Given the description of an element on the screen output the (x, y) to click on. 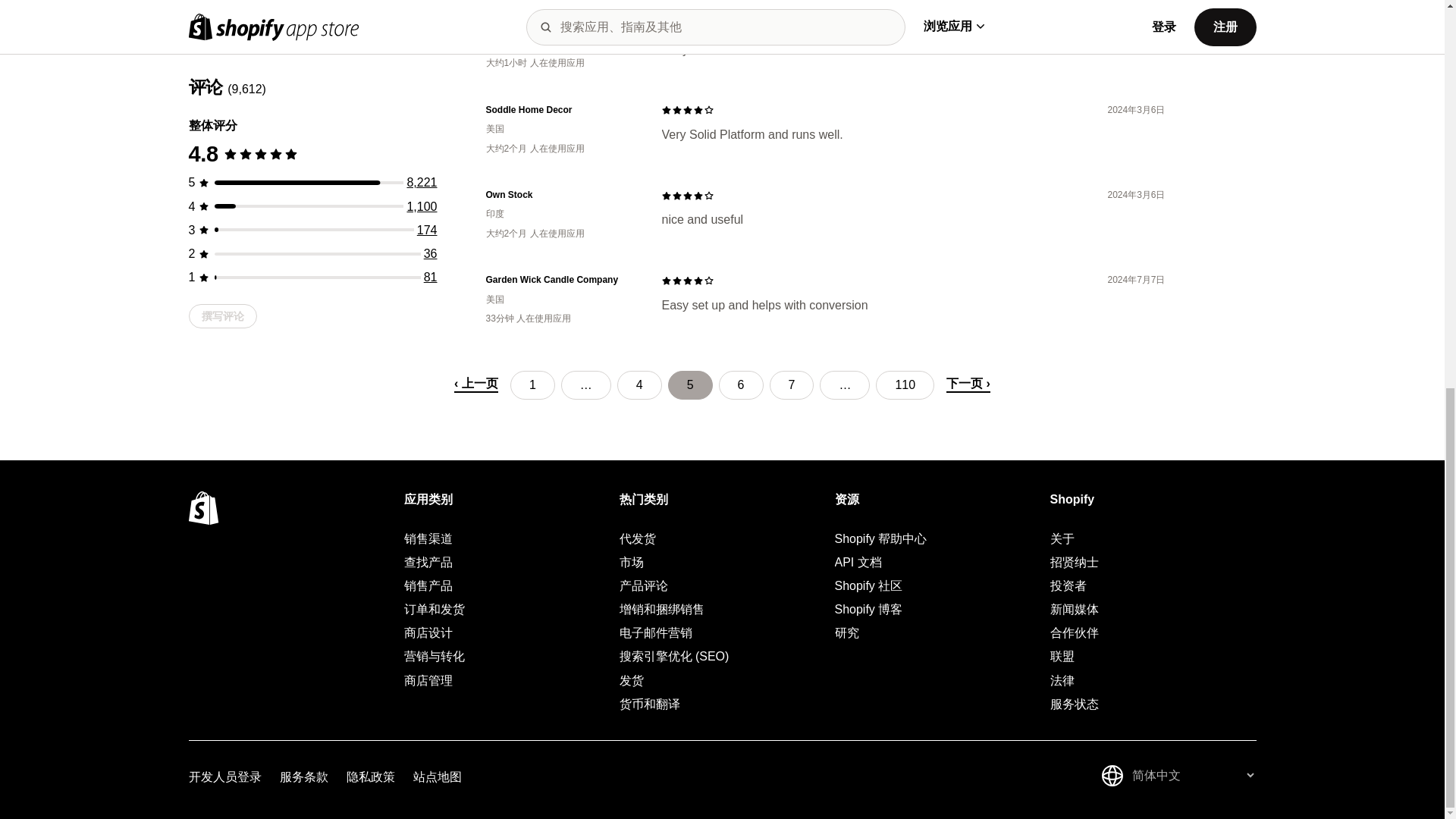
Garden Wick Candle Company (560, 279)
Soddle Home Decor (560, 110)
Own Stock  (560, 195)
WellnessGadgetsHub (560, 24)
